Given the description of an element on the screen output the (x, y) to click on. 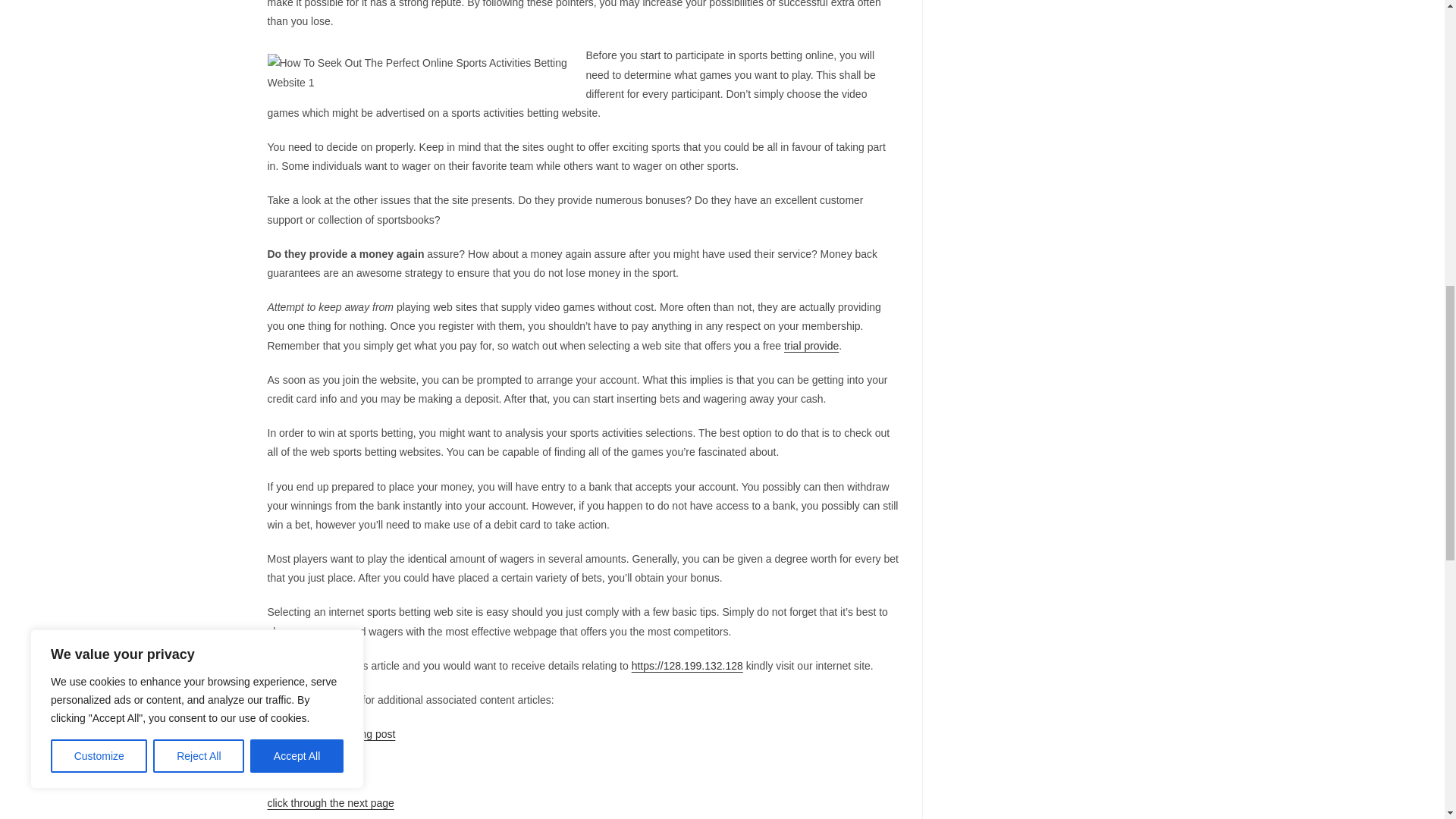
Just click the following post (330, 734)
click through the next page (329, 802)
a knockout post (303, 767)
trial provide (811, 345)
